Given the description of an element on the screen output the (x, y) to click on. 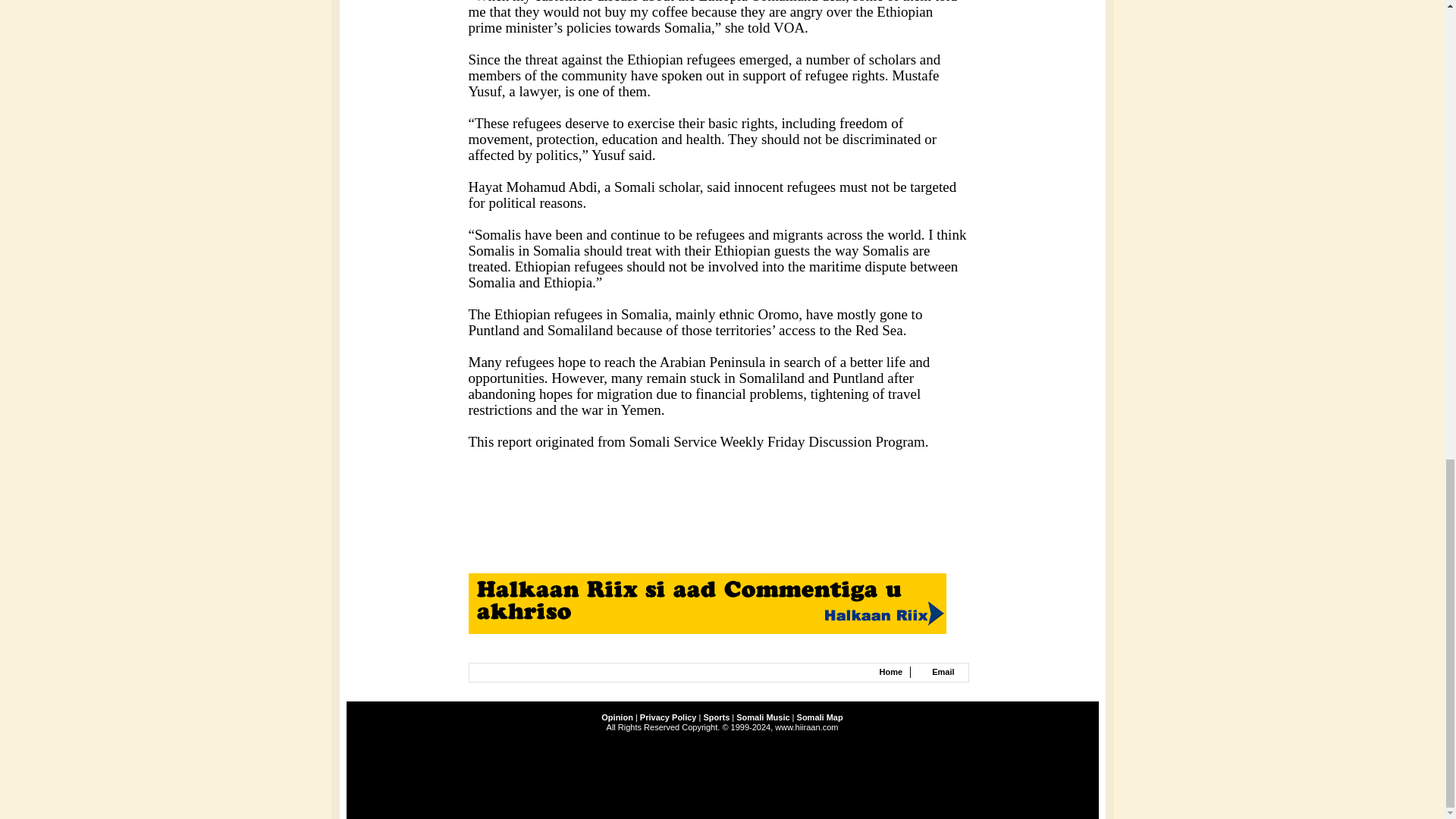
Sports (716, 716)
Privacy Policy (668, 716)
Opinion (617, 716)
Home (890, 671)
Somali Music (762, 716)
Somali Map (819, 716)
Email (942, 671)
